Given the description of an element on the screen output the (x, y) to click on. 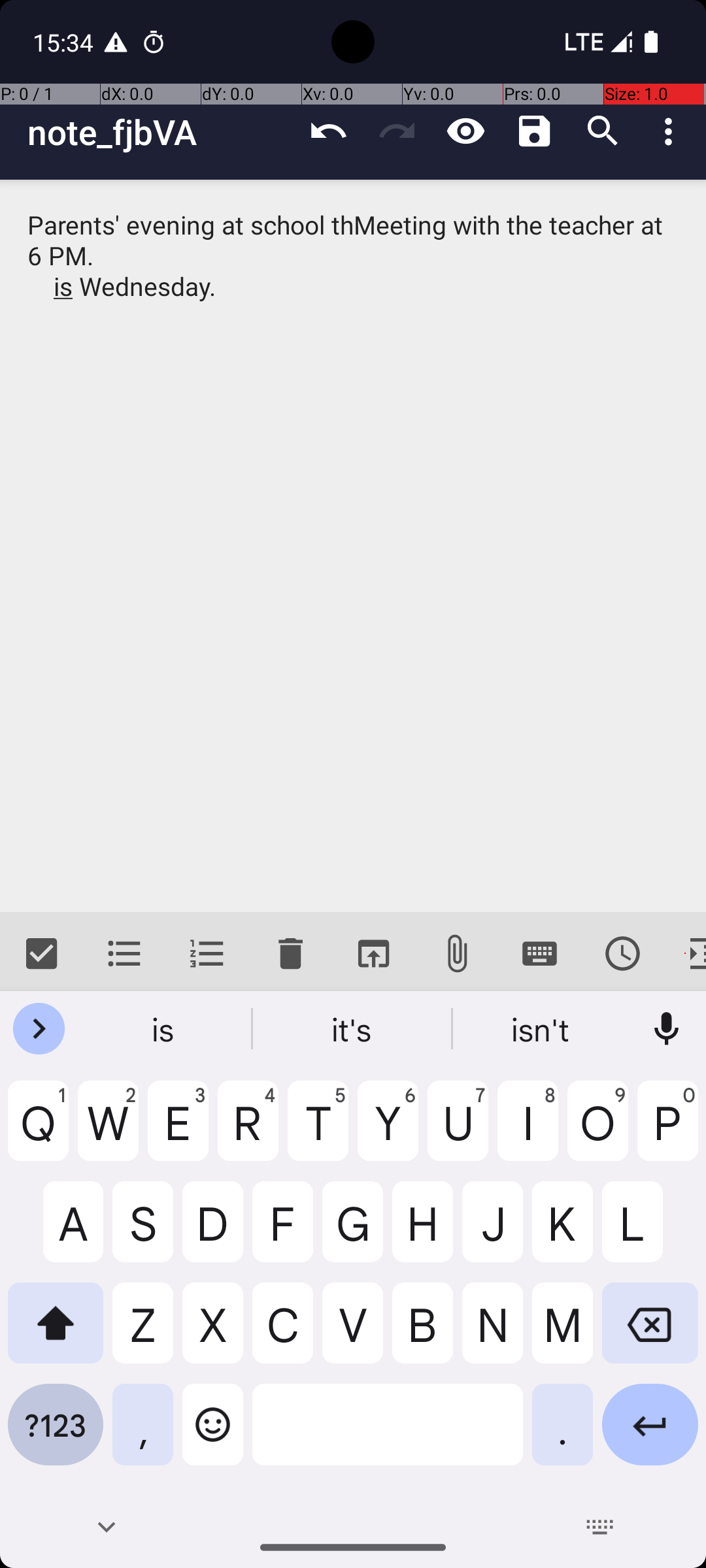
note_fjbVA Element type: android.widget.TextView (160, 131)
Parents' evening at school thMeeting with the teacher at 6 PM.
is Wednesday. Element type: android.widget.EditText (353, 545)
is Element type: android.widget.FrameLayout (163, 1028)
it's Element type: android.widget.FrameLayout (352, 1028)
isn't Element type: android.widget.FrameLayout (541, 1028)
